Given the description of an element on the screen output the (x, y) to click on. 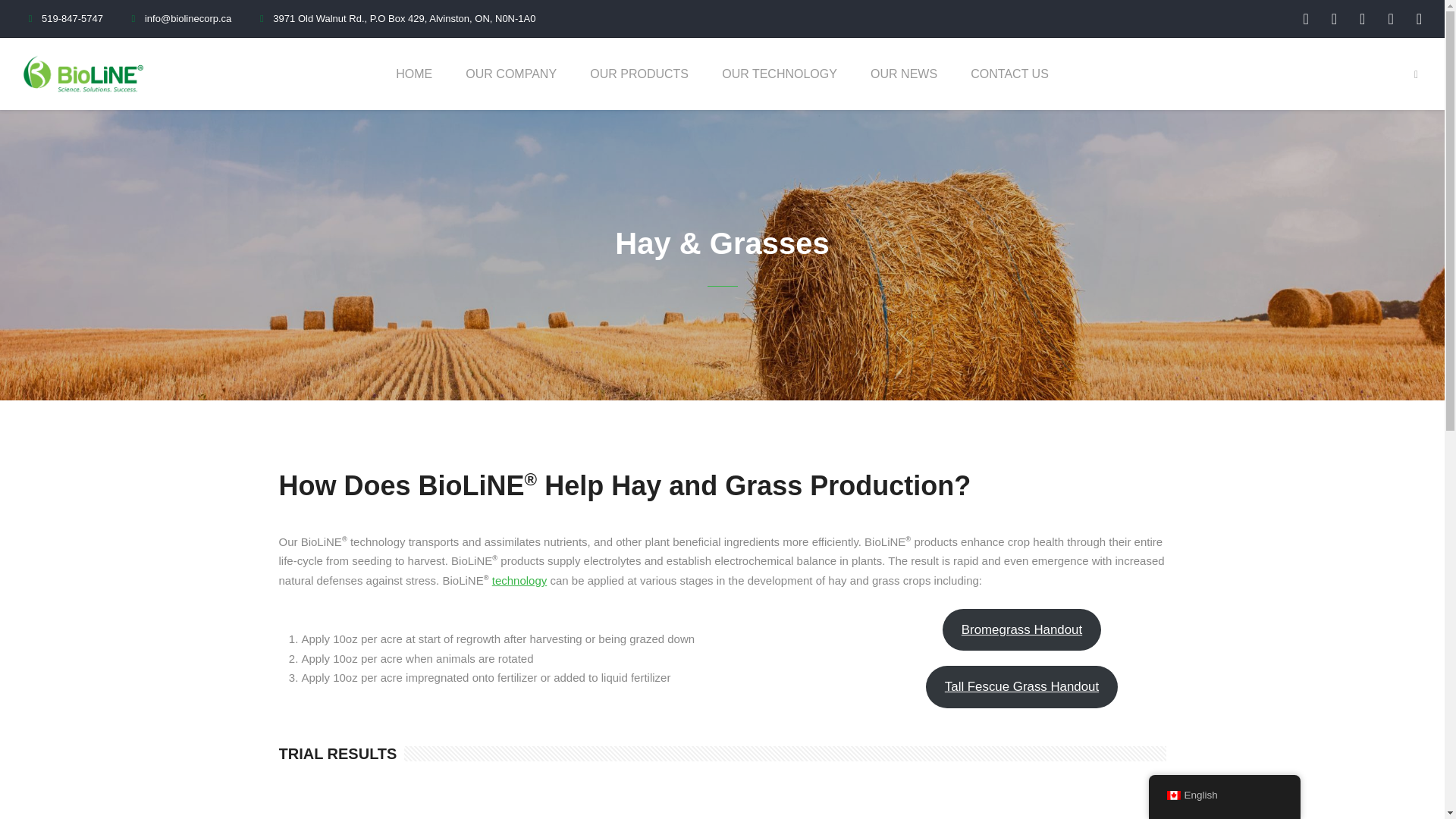
OUR COMPANY (510, 85)
English (1172, 795)
LinkedIn (1362, 18)
OUR PRODUCTS (639, 85)
3971 Old Walnut Rd., P.O Box 429, Alvinston, ON, N0N-1A0 (394, 18)
Twitter (1390, 18)
Bromegrass Handout (1021, 629)
Instagram (1334, 18)
OUR NEWS (904, 85)
519-847-5747 (63, 18)
Facebook (1305, 18)
OUR TECHNOLOGY (778, 85)
CONTACT US (1009, 85)
HOME (413, 85)
Tall Fescue Grass Handout (1021, 686)
